Given the description of an element on the screen output the (x, y) to click on. 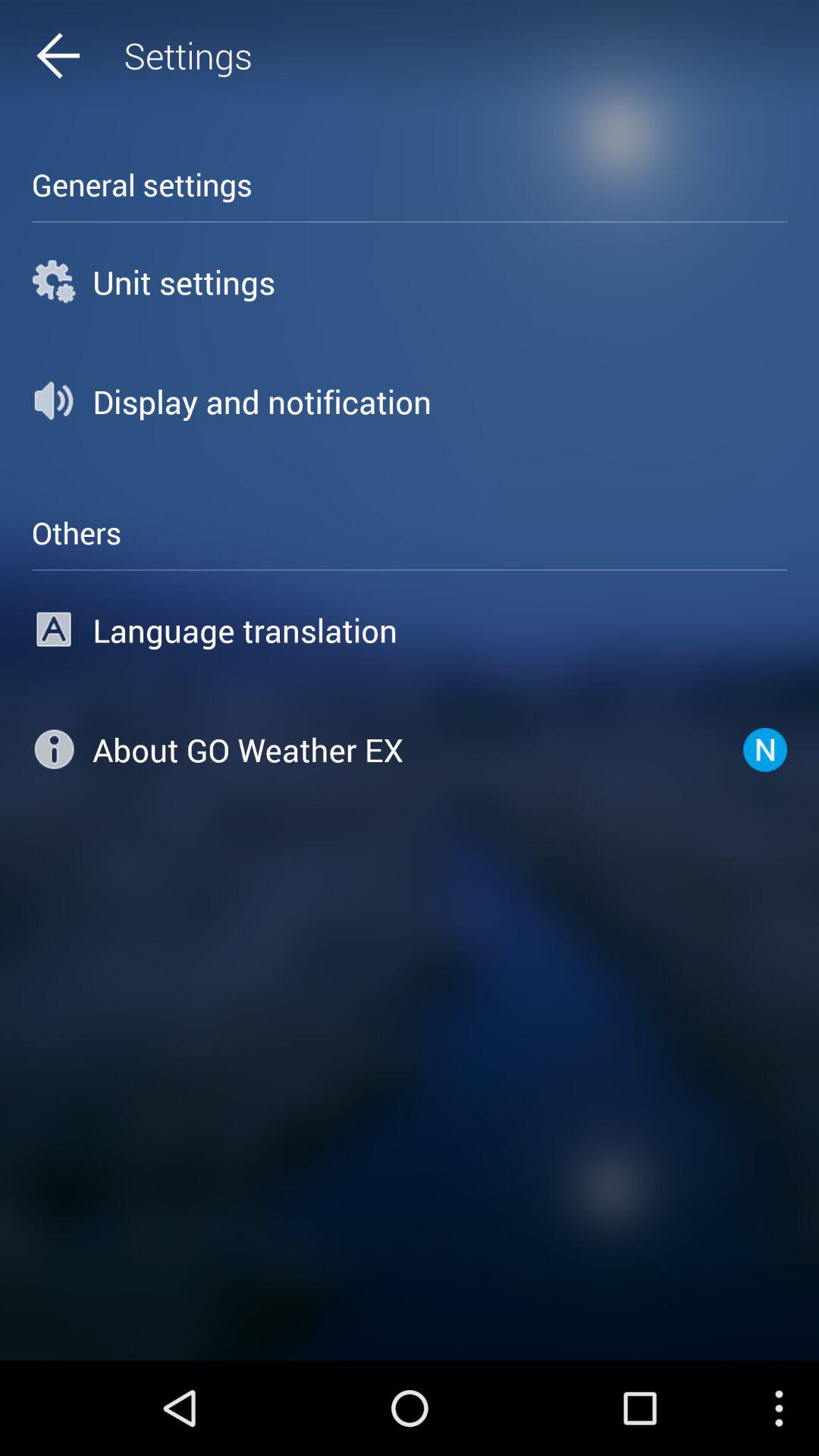
choose icon above general settings icon (87, 55)
